Given the description of an element on the screen output the (x, y) to click on. 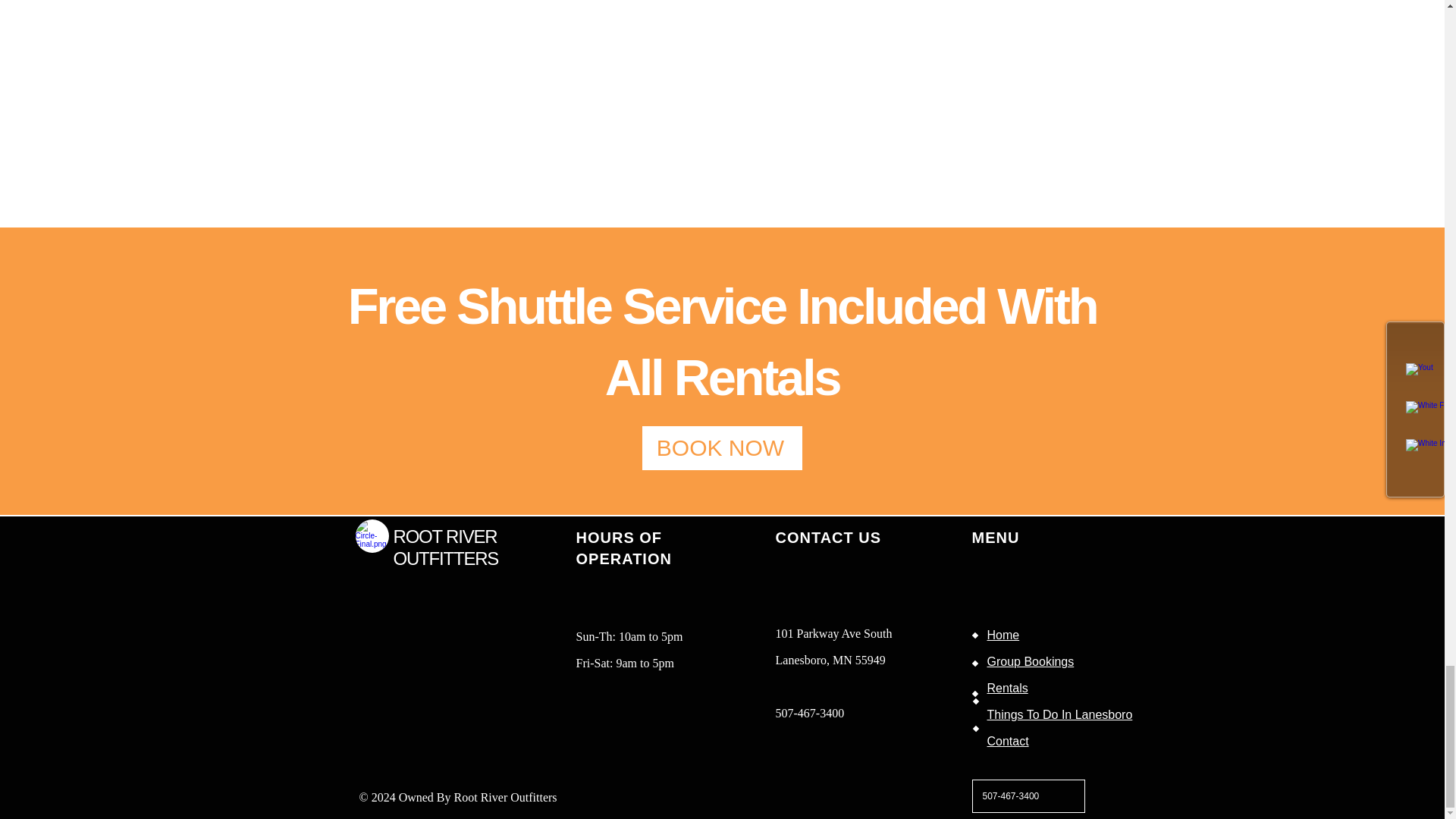
BOOK NOW (722, 447)
ROOT RIVER OUTFITTERS (445, 547)
Things To Do In Lanesboro (1059, 712)
Group Bookings (1030, 659)
CONTACT US (827, 537)
Rentals (1007, 686)
Home (1003, 633)
507-467-3400 (1028, 796)
Contact (1008, 739)
